Given the description of an element on the screen output the (x, y) to click on. 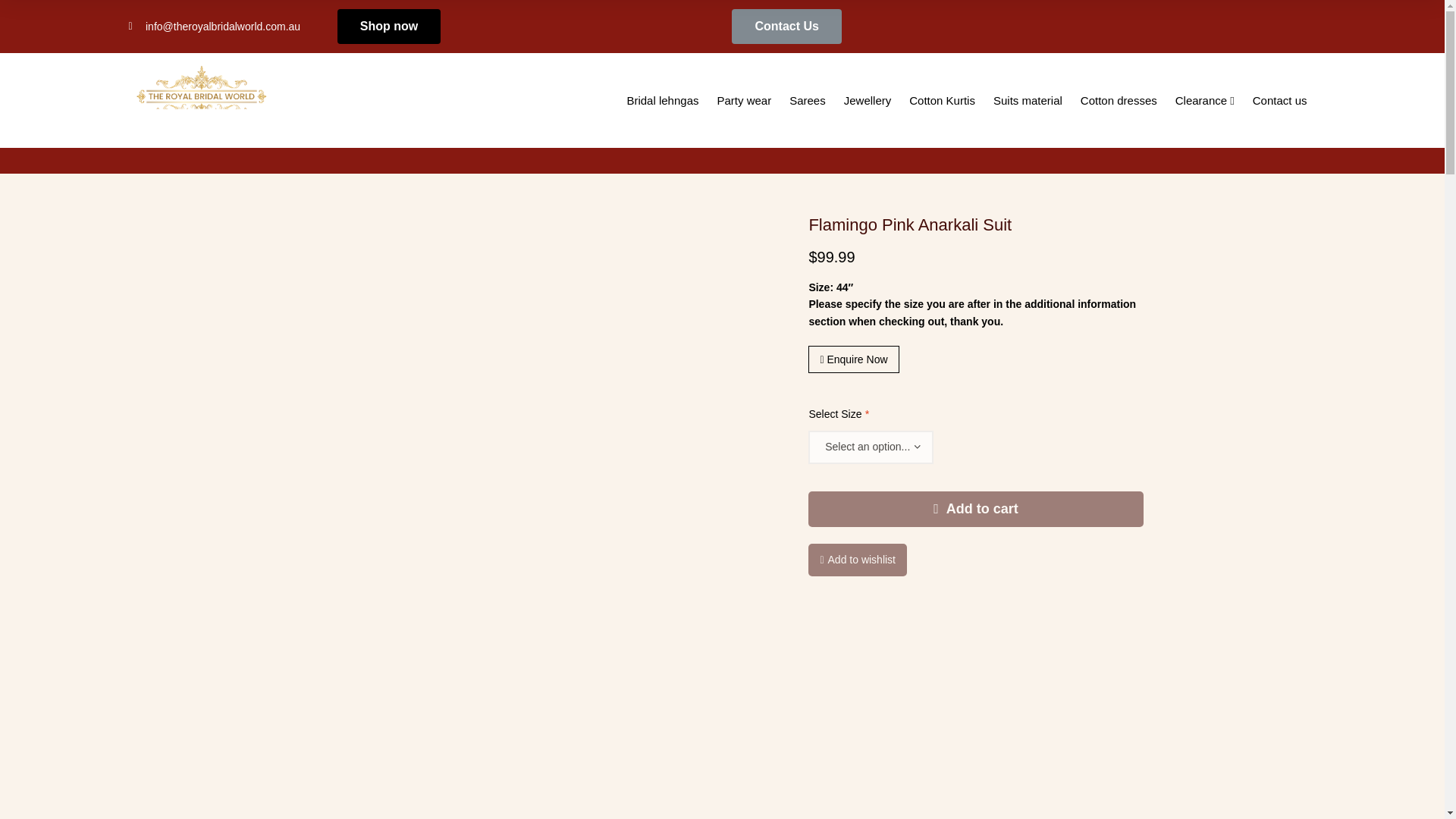
Jewellery (867, 100)
Sarees (807, 100)
Enquire Now (853, 359)
Cotton Kurtis (941, 100)
Add to cart (975, 509)
Contact us (1279, 100)
Shop now (389, 26)
Contact Us (786, 26)
Bridal lehngas (662, 100)
Cotton dresses (1118, 100)
